Given the description of an element on the screen output the (x, y) to click on. 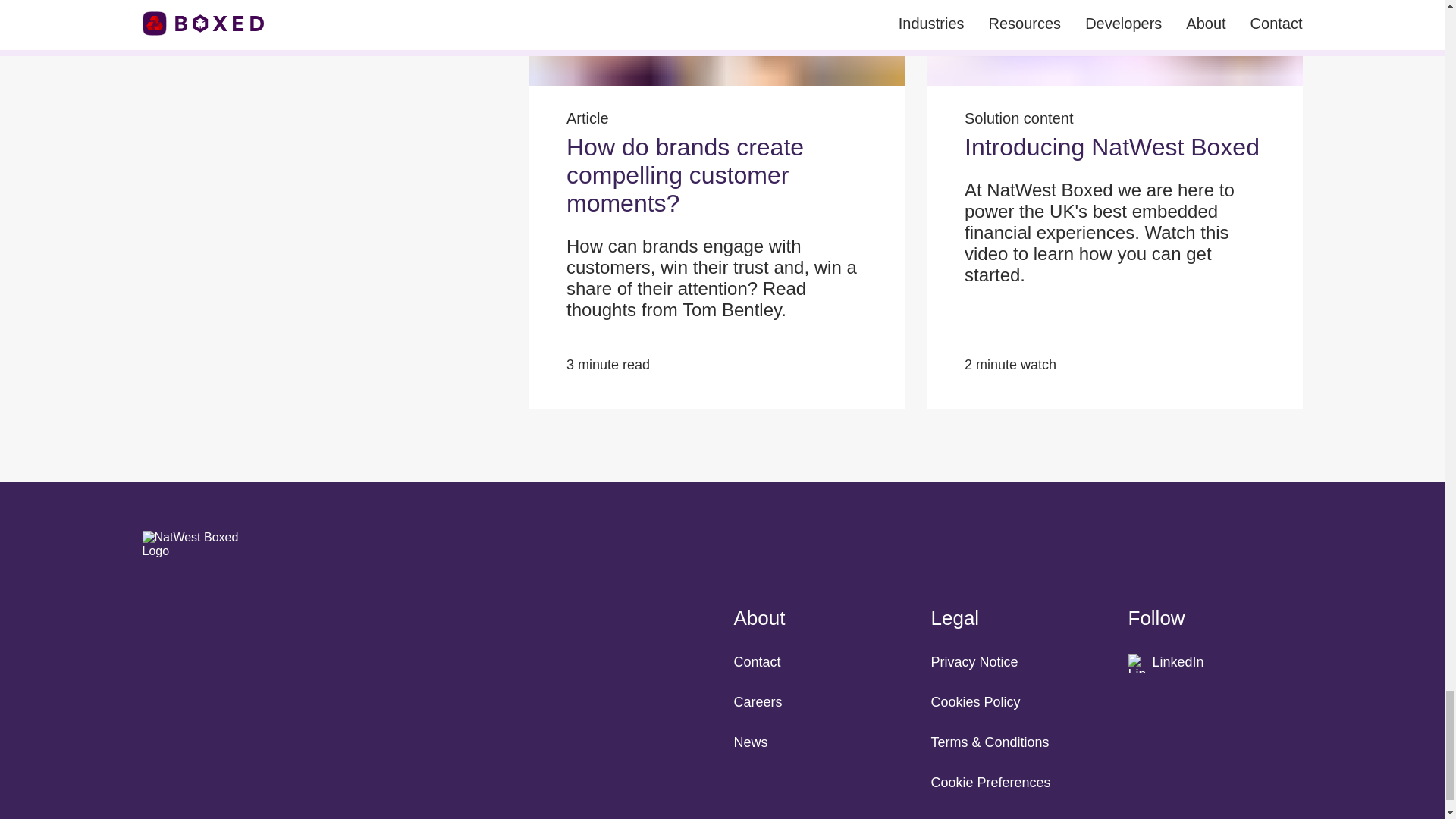
Cookie Preferences (991, 782)
